Given the description of an element on the screen output the (x, y) to click on. 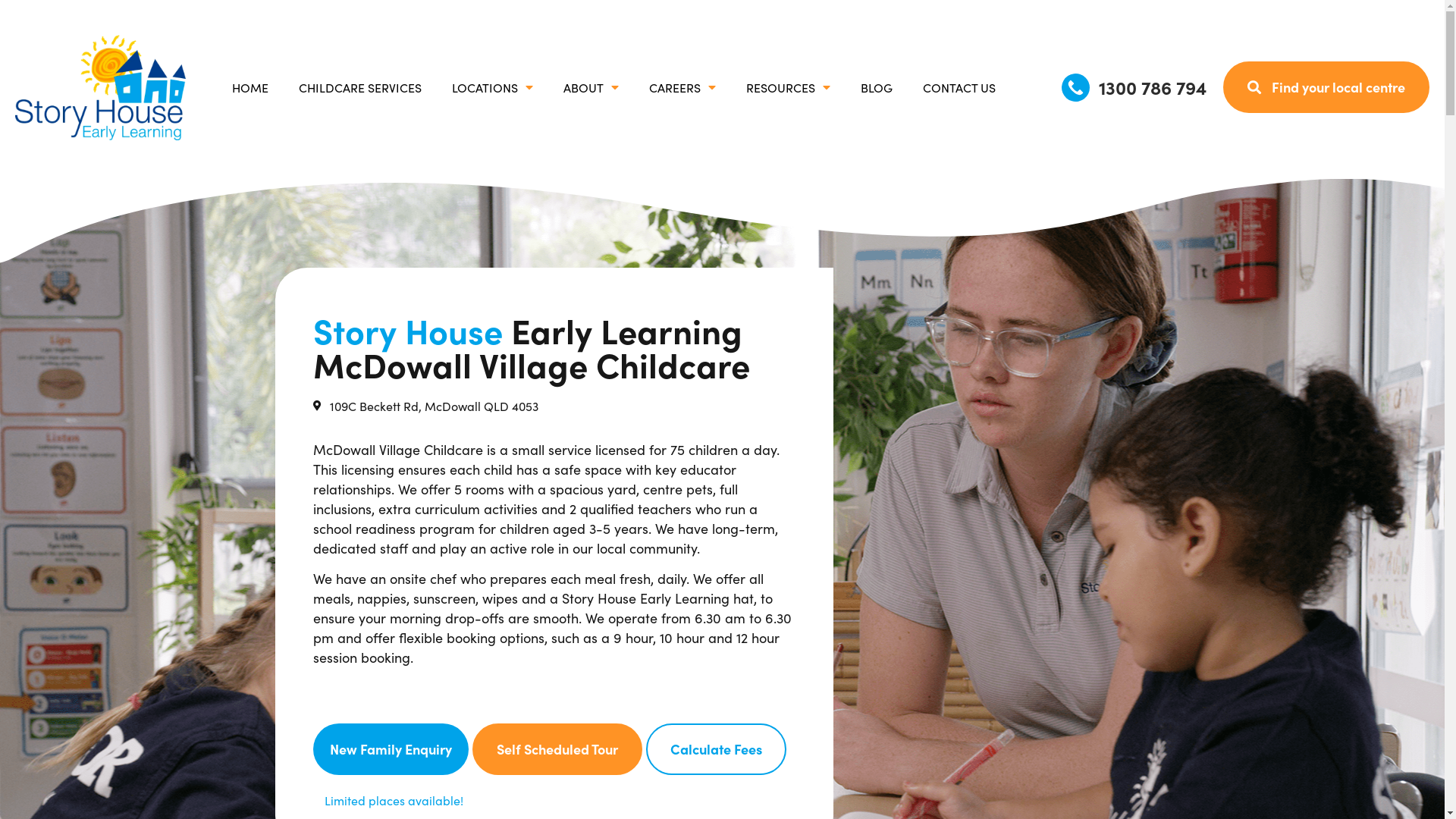
LOCATIONS Element type: text (492, 86)
HOME Element type: text (249, 86)
CAREERS Element type: text (682, 86)
New Family Enquiry Element type: text (389, 749)
CONTACT US Element type: text (958, 86)
Find your local centre Element type: text (1326, 86)
Calculate Fees Element type: text (716, 749)
1300 786 794 Element type: text (1134, 86)
BLOG Element type: text (875, 86)
RESOURCES Element type: text (788, 86)
Self Scheduled Tour Element type: text (556, 749)
ABOUT Element type: text (590, 86)
CHILDCARE SERVICES Element type: text (359, 86)
